Given the description of an element on the screen output the (x, y) to click on. 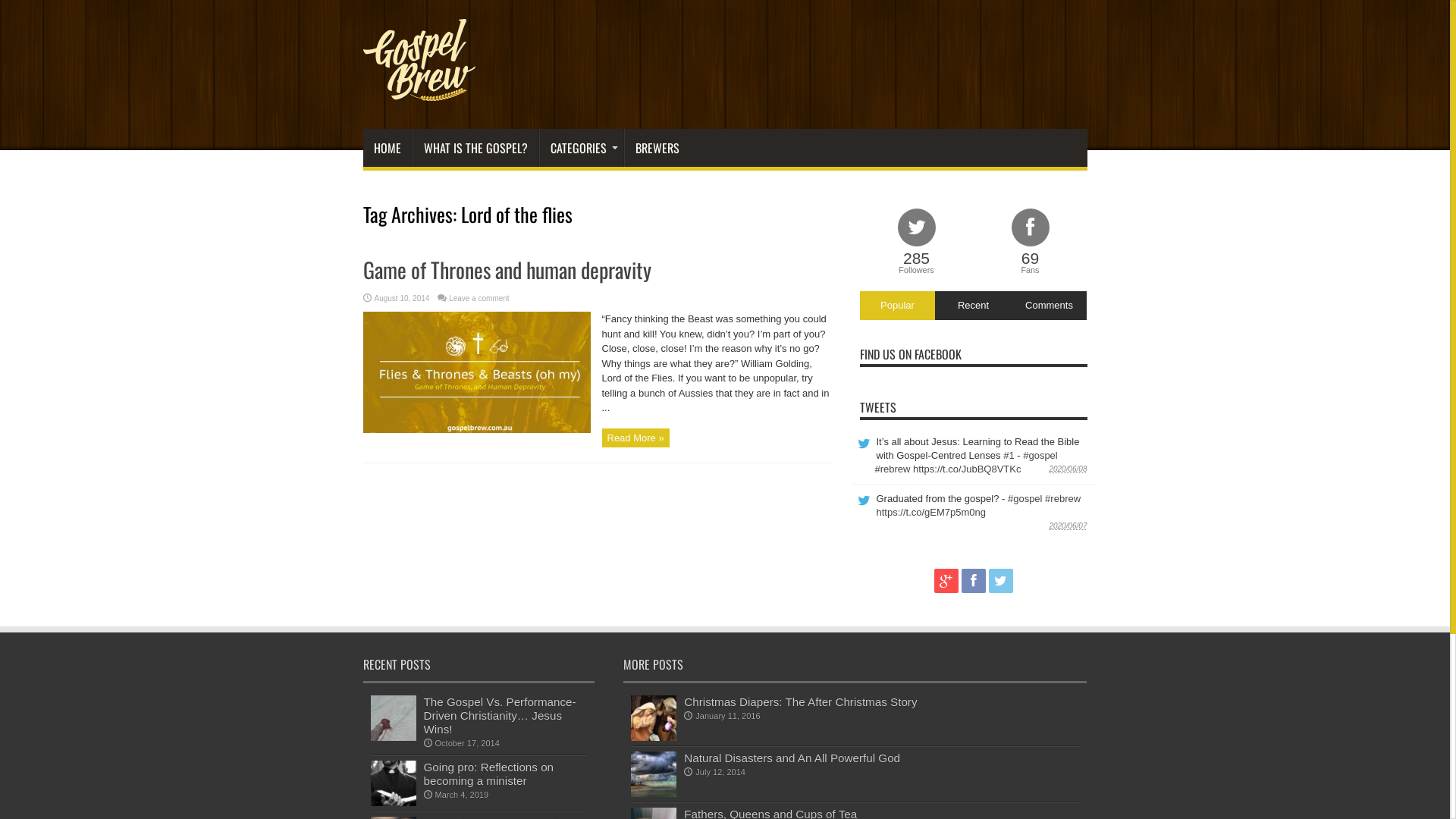
#1 Element type: text (1008, 455)
https://t.co/gEM7p5m0ng Element type: text (931, 511)
HOME Element type: text (386, 147)
Popular Element type: text (897, 305)
Recent Element type: text (972, 305)
Christmas Diapers: The After Christmas Story Element type: text (800, 701)
Permalink to Game of Thrones and human depravity Element type: hover (475, 429)
Permalink to Going pro: Reflections on becoming a minister Element type: hover (392, 802)
#rebrew Element type: text (1062, 498)
Going pro: Reflections on becoming a minister Element type: text (488, 773)
#gospel Element type: text (1024, 498)
#gospel Element type: text (1039, 455)
Permalink to Christmas Diapers: The After Christmas Story Element type: hover (653, 737)
Permalink to Natural Disasters and An All Powerful God Element type: hover (653, 793)
Leave a comment Element type: text (478, 298)
BREWERS Element type: text (656, 147)
TWEETS Element type: text (877, 407)
Game of Thrones and human depravity Element type: text (506, 269)
Comments Element type: text (1048, 305)
CATEGORIES Element type: text (580, 147)
285
Followers Element type: text (916, 242)
#rebrew Element type: text (892, 468)
WHAT IS THE GOSPEL? Element type: text (475, 147)
Natural Disasters and An All Powerful God Element type: text (792, 757)
Gospel Brew Element type: hover (418, 90)
https://t.co/JubBQ8VTKc Element type: text (966, 468)
69
Fans Element type: text (1030, 242)
